Given the description of an element on the screen output the (x, y) to click on. 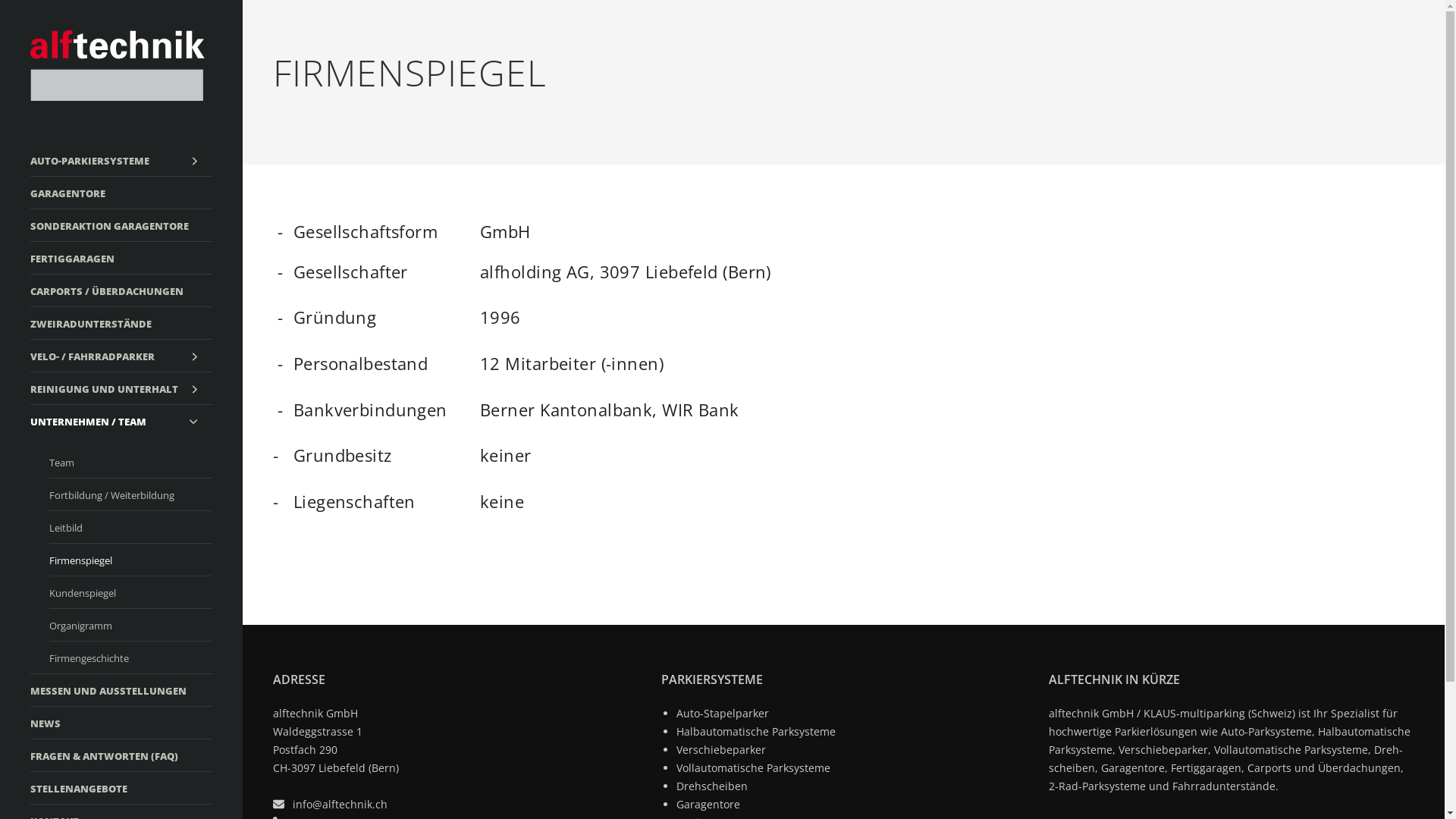
Leitbild Element type: text (130, 526)
info@alftechnik.ch Element type: text (339, 804)
REINIGUNG UND UNTERHALT Element type: text (121, 388)
NEWS Element type: text (121, 722)
VELO- / FAHRRADPARKER Element type: text (121, 355)
MESSEN UND AUSSTELLUNGEN Element type: text (121, 690)
Fortbildung / Weiterbildung Element type: text (130, 494)
Auto-Stapelparker Element type: text (722, 713)
FERTIGGARAGEN Element type: text (121, 257)
STELLENANGEBOTE Element type: text (121, 787)
Firmenspiegel Element type: text (130, 559)
Firmengeschichte Element type: text (130, 657)
UNTERNEHMEN / TEAM Element type: text (121, 420)
AUTO-PARKIERSYSTEME Element type: text (121, 159)
FRAGEN & ANTWORTEN (FAQ) Element type: text (121, 755)
Team Element type: text (130, 461)
GARAGENTORE Element type: text (121, 192)
Organigramm Element type: text (130, 624)
Kundenspiegel Element type: text (130, 592)
SONDERAKTION GARAGENTORE Element type: text (121, 225)
